Given the description of an element on the screen output the (x, y) to click on. 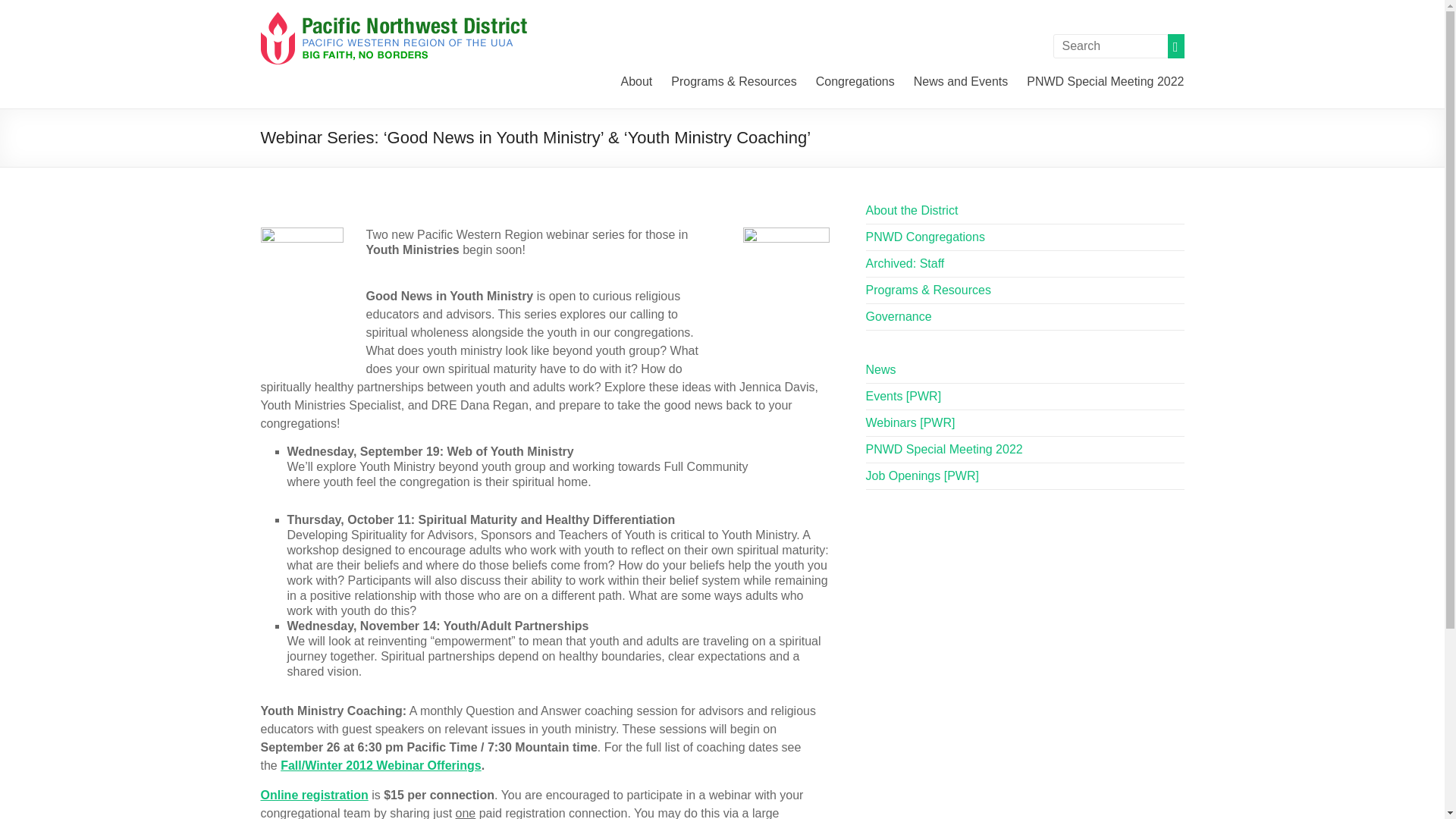
Governance (898, 316)
News (881, 369)
News and Events (961, 79)
PNWD Congregations (925, 236)
Congregations (855, 79)
Online registration (314, 794)
PNWD Special Meeting 2022 (1104, 79)
Pacific Northwest District of the UUA (395, 18)
Archived: Staff (905, 263)
About the District (912, 210)
